Given the description of an element on the screen output the (x, y) to click on. 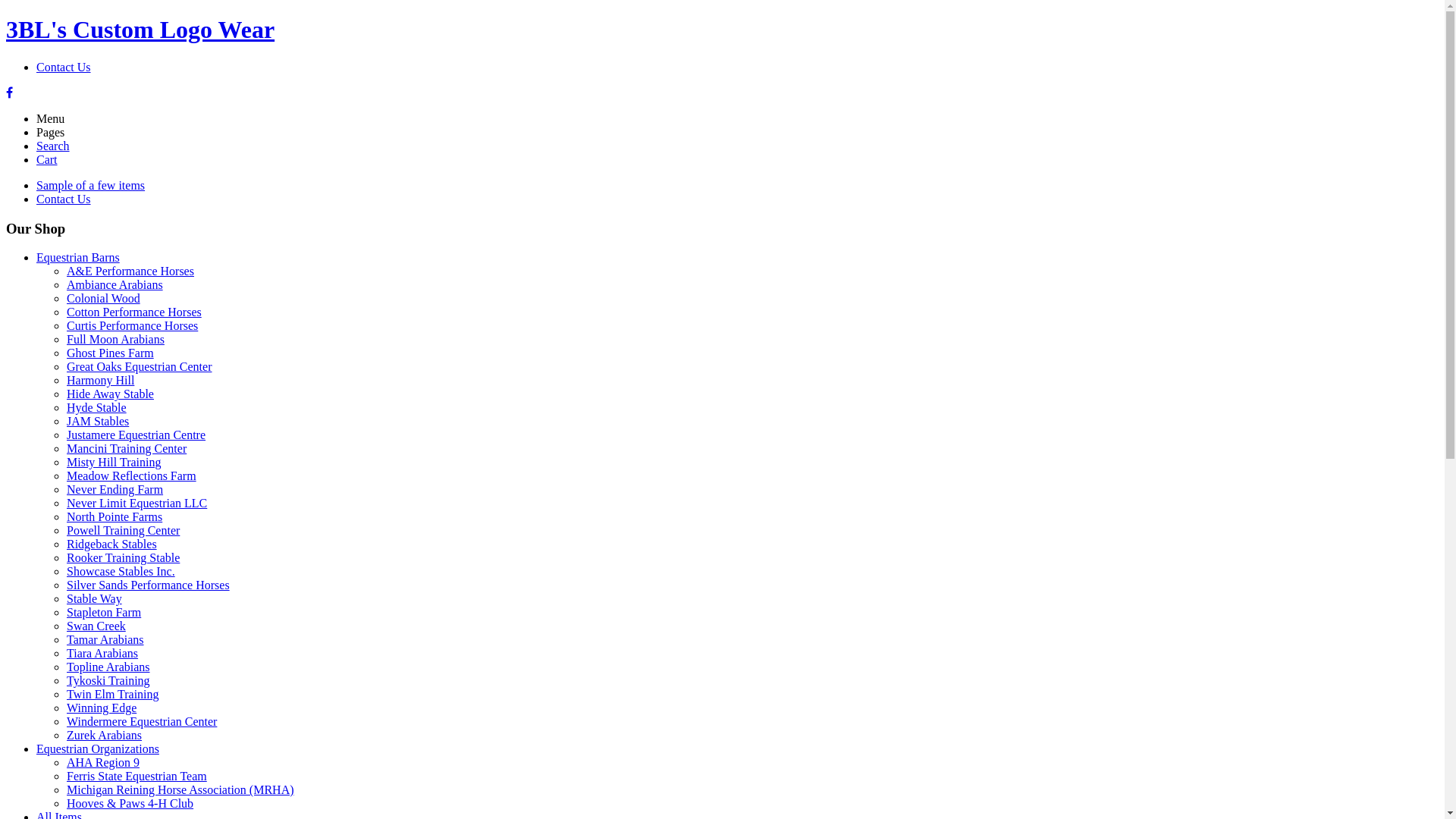
Mancini Training Center Element type: text (126, 448)
North Pointe Farms Element type: text (114, 516)
A&E Performance Horses Element type: text (130, 270)
Ridgeback Stables Element type: text (111, 543)
Cotton Performance Horses Element type: text (133, 311)
Misty Hill Training Element type: text (113, 461)
Contact Us Element type: text (63, 66)
Equestrian Barns Element type: text (77, 257)
Twin Elm Training Element type: text (112, 693)
Contact Us Element type: text (63, 198)
Zurek Arabians Element type: text (103, 734)
Ghost Pines Farm Element type: text (109, 352)
Meadow Reflections Farm Element type: text (131, 475)
Never Limit Equestrian LLC Element type: text (136, 502)
Swan Creek Element type: text (95, 625)
Never Ending Farm Element type: text (114, 489)
Silver Sands Performance Horses Element type: text (147, 584)
Topline Arabians Element type: text (108, 666)
Hide Away Stable Element type: text (109, 393)
Stable Way Element type: text (94, 598)
Hyde Stable Element type: text (96, 407)
Tamar Arabians Element type: text (105, 639)
JAM Stables Element type: text (97, 420)
Showcase Stables Inc. Element type: text (120, 570)
Rooker Training Stable Element type: text (122, 557)
Justamere Equestrian Centre Element type: text (135, 434)
Ferris State Equestrian Team Element type: text (136, 775)
Powell Training Center Element type: text (122, 530)
AHA Region 9 Element type: text (102, 762)
Michigan Reining Horse Association (MRHA) Element type: text (180, 789)
Winning Edge Element type: text (101, 707)
Search Element type: text (52, 145)
Full Moon Arabians Element type: text (115, 338)
Equestrian Organizations Element type: text (97, 748)
Cart Element type: text (46, 159)
Tiara Arabians Element type: text (102, 652)
Sample of a few items Element type: text (90, 184)
Hooves & Paws 4-H Club Element type: text (129, 803)
Harmony Hill Element type: text (100, 379)
Stapleton Farm Element type: text (103, 611)
Tykoski Training Element type: text (108, 680)
Windermere Equestrian Center Element type: text (141, 721)
Great Oaks Equestrian Center Element type: text (138, 366)
3BL's Custom Logo Wear Element type: text (722, 29)
Curtis Performance Horses Element type: text (131, 325)
Ambiance Arabians Element type: text (114, 284)
Colonial Wood Element type: text (103, 297)
